Given the description of an element on the screen output the (x, y) to click on. 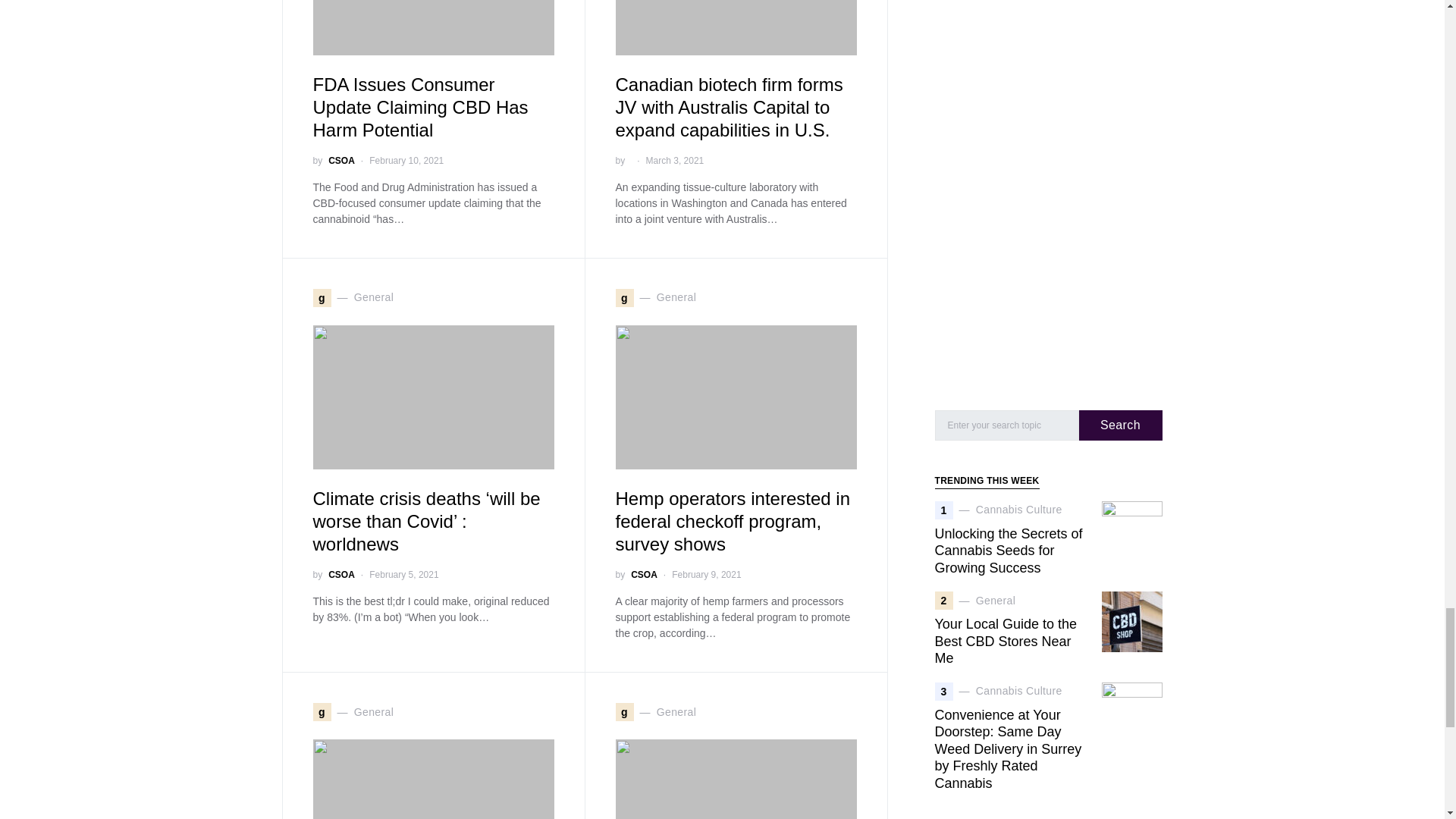
View all posts by CSOA (342, 574)
View all posts by CSOA (644, 574)
View all posts by CSOA (342, 160)
